Given the description of an element on the screen output the (x, y) to click on. 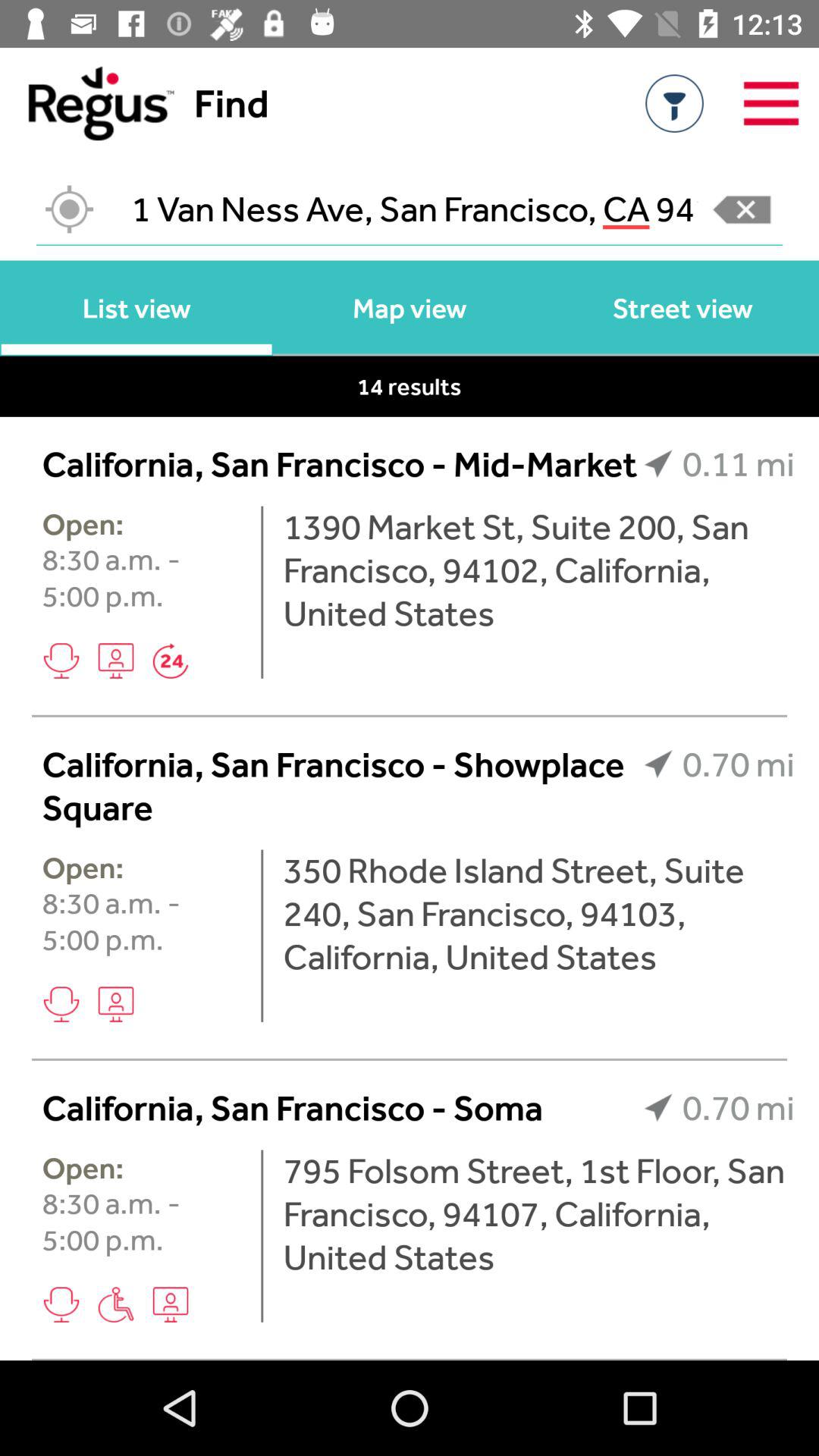
choose item to the left of the 350 rhode island (262, 935)
